Given the description of an element on the screen output the (x, y) to click on. 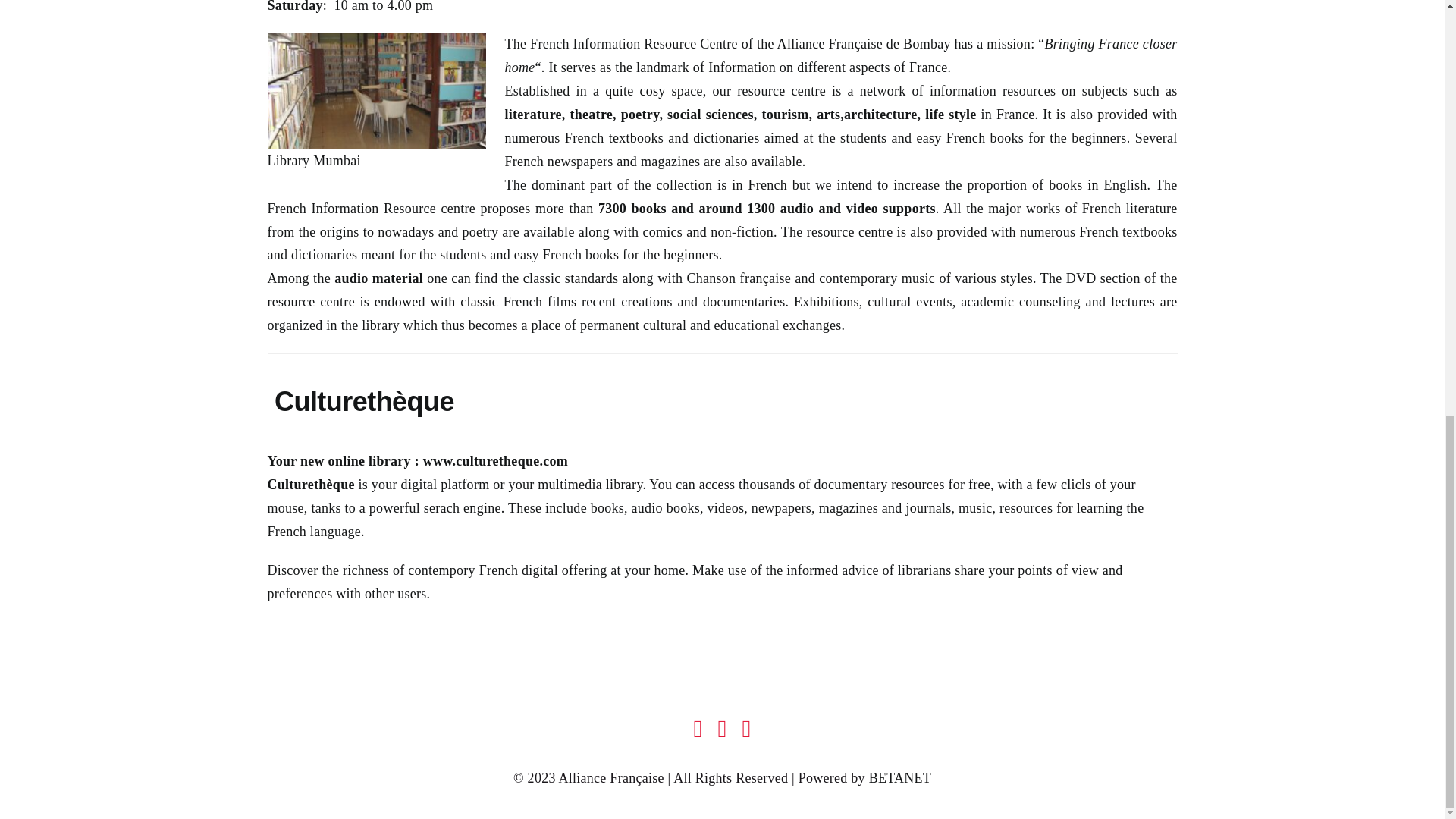
Library Mumbai (375, 90)
